Given the description of an element on the screen output the (x, y) to click on. 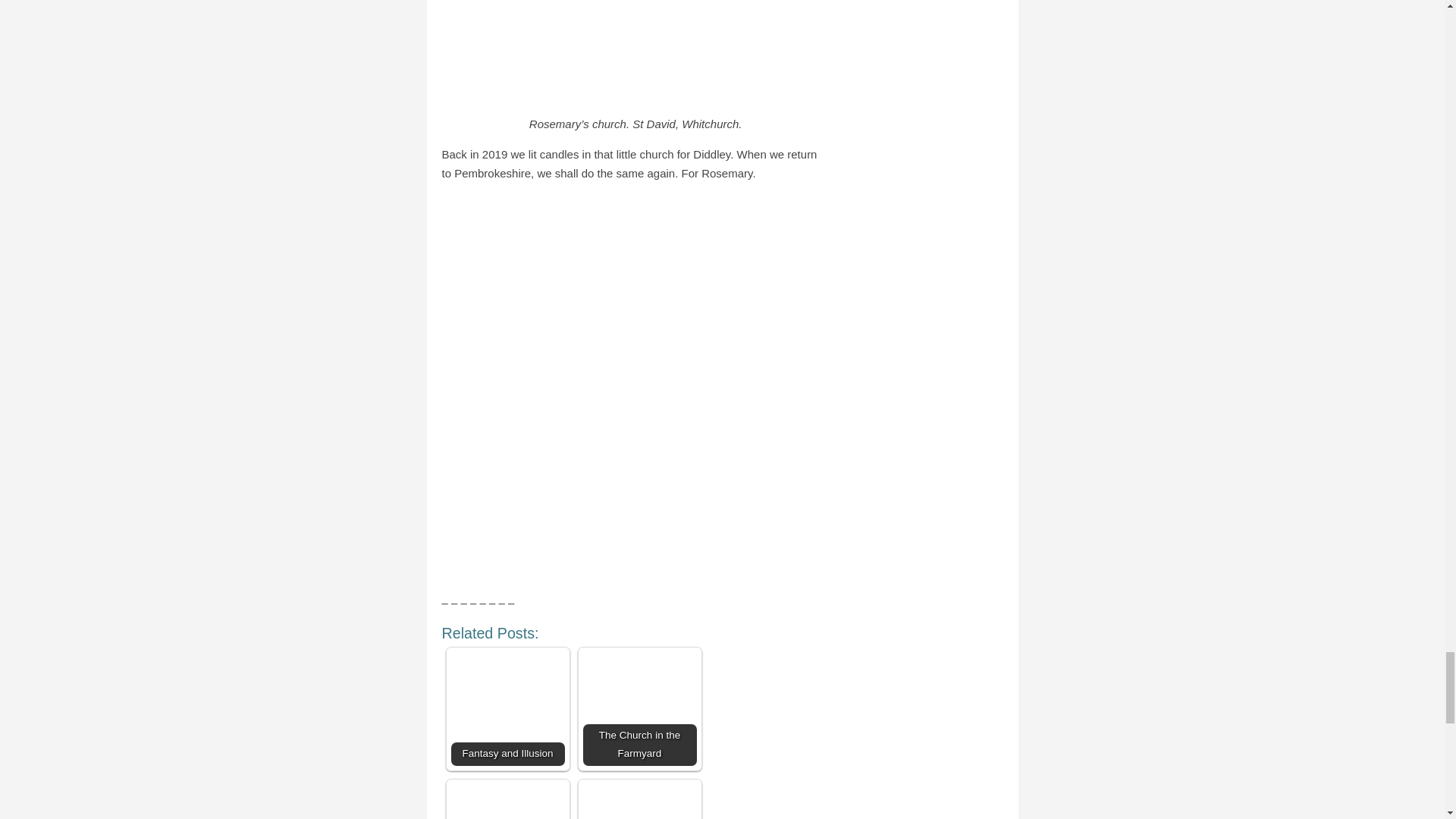
The Church in the Farmyard (638, 708)
Her Majesty the Queen (638, 801)
The Man Who Talks Too Much (506, 801)
Fantasy and Illusion (506, 708)
